Given the description of an element on the screen output the (x, y) to click on. 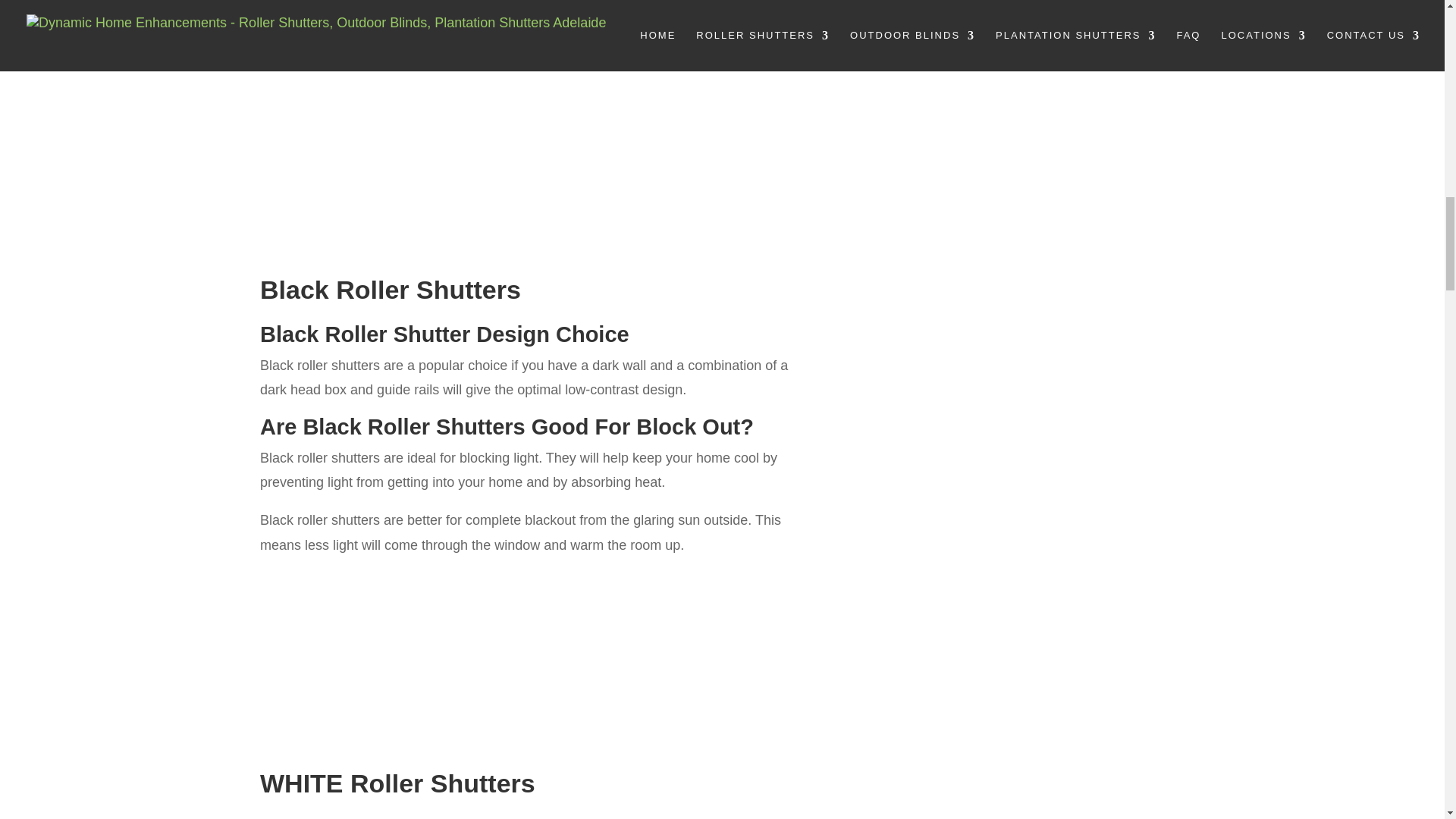
Woodland Grey (478, 2)
Grey Roller Shutter Slat Colours (315, 84)
Striped Roller Shutter (315, 2)
Green Roller Shutter Slat Colours (478, 84)
Green (478, 135)
Striped Roller Shutter (315, 1)
Woodland Grey Roller Shutter (478, 1)
Grey (315, 135)
White (641, 2)
